Given the description of an element on the screen output the (x, y) to click on. 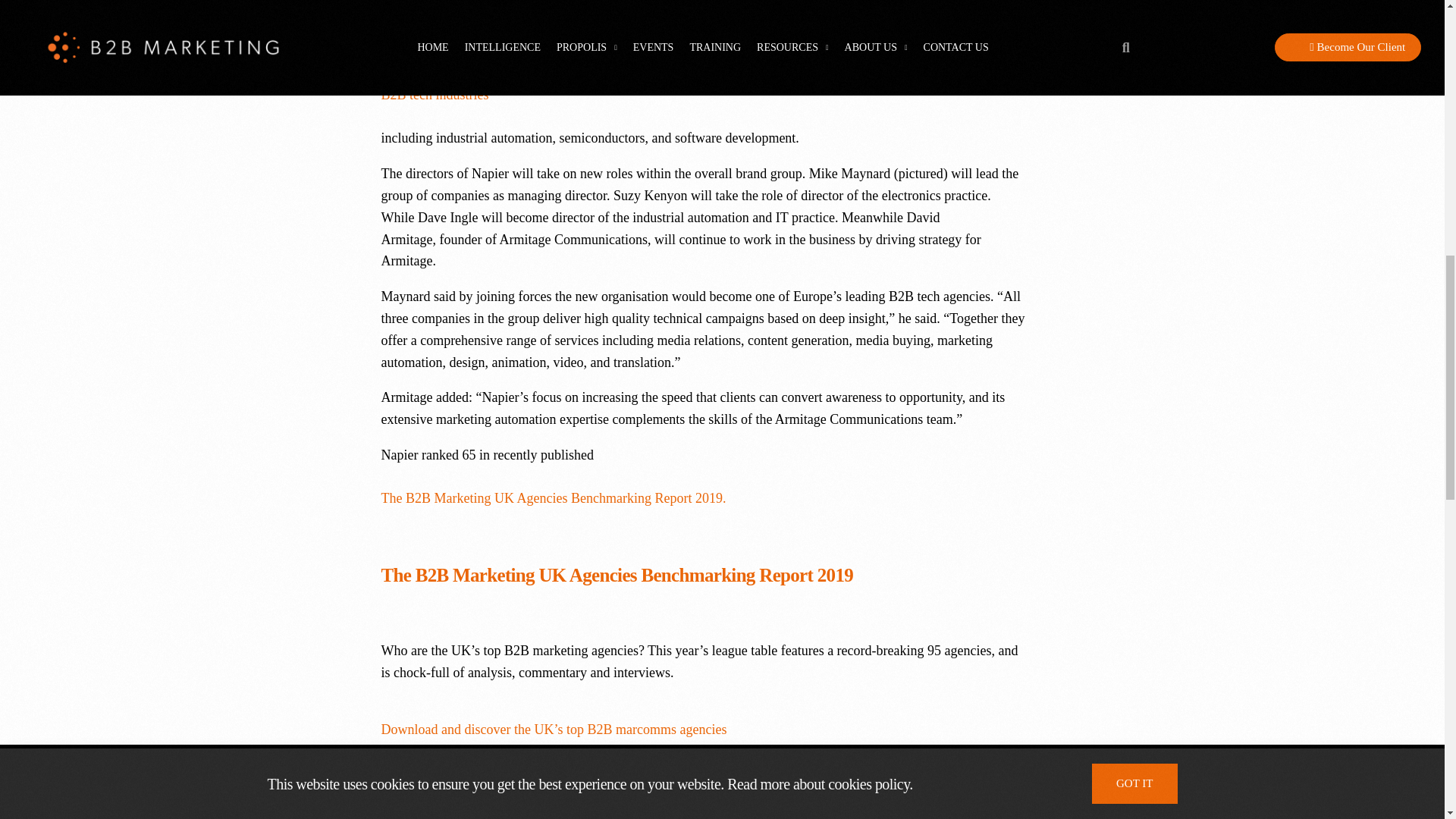
The B2B Marketing UK Agencies Benchmarking Report 2019 (532, 797)
